Given the description of an element on the screen output the (x, y) to click on. 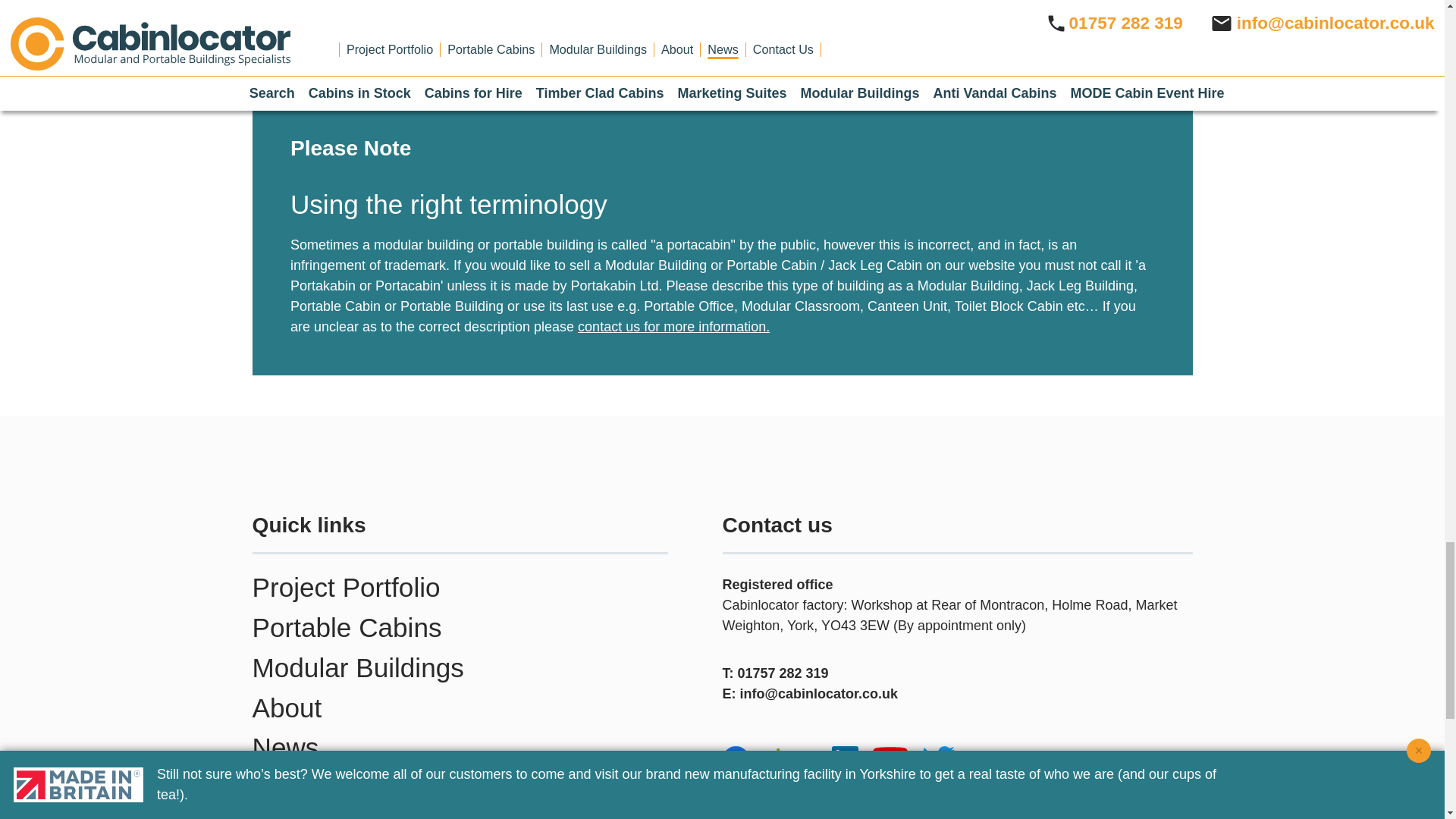
eBay icon (790, 759)
LinkedIn icon (844, 759)
Twitter icon (938, 758)
YouTube icon (890, 760)
Facebook icon (735, 759)
